Given the description of an element on the screen output the (x, y) to click on. 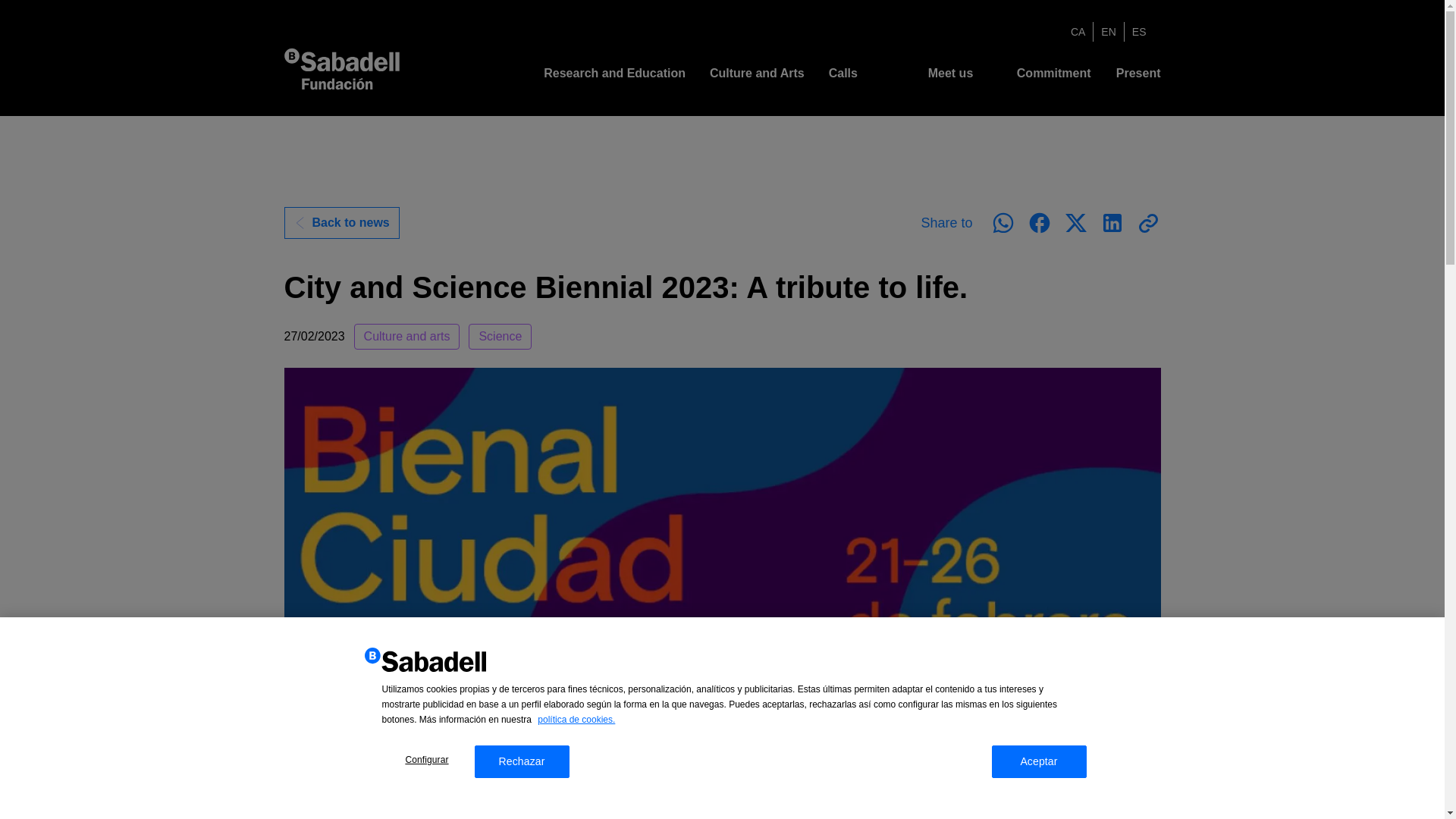
EN (1107, 31)
CA (1077, 31)
Calls (842, 72)
Research and Education (614, 72)
Meet us (951, 72)
Present (1138, 72)
Culture and Arts (757, 72)
Commitment (1053, 72)
ES (1139, 31)
